Given the description of an element on the screen output the (x, y) to click on. 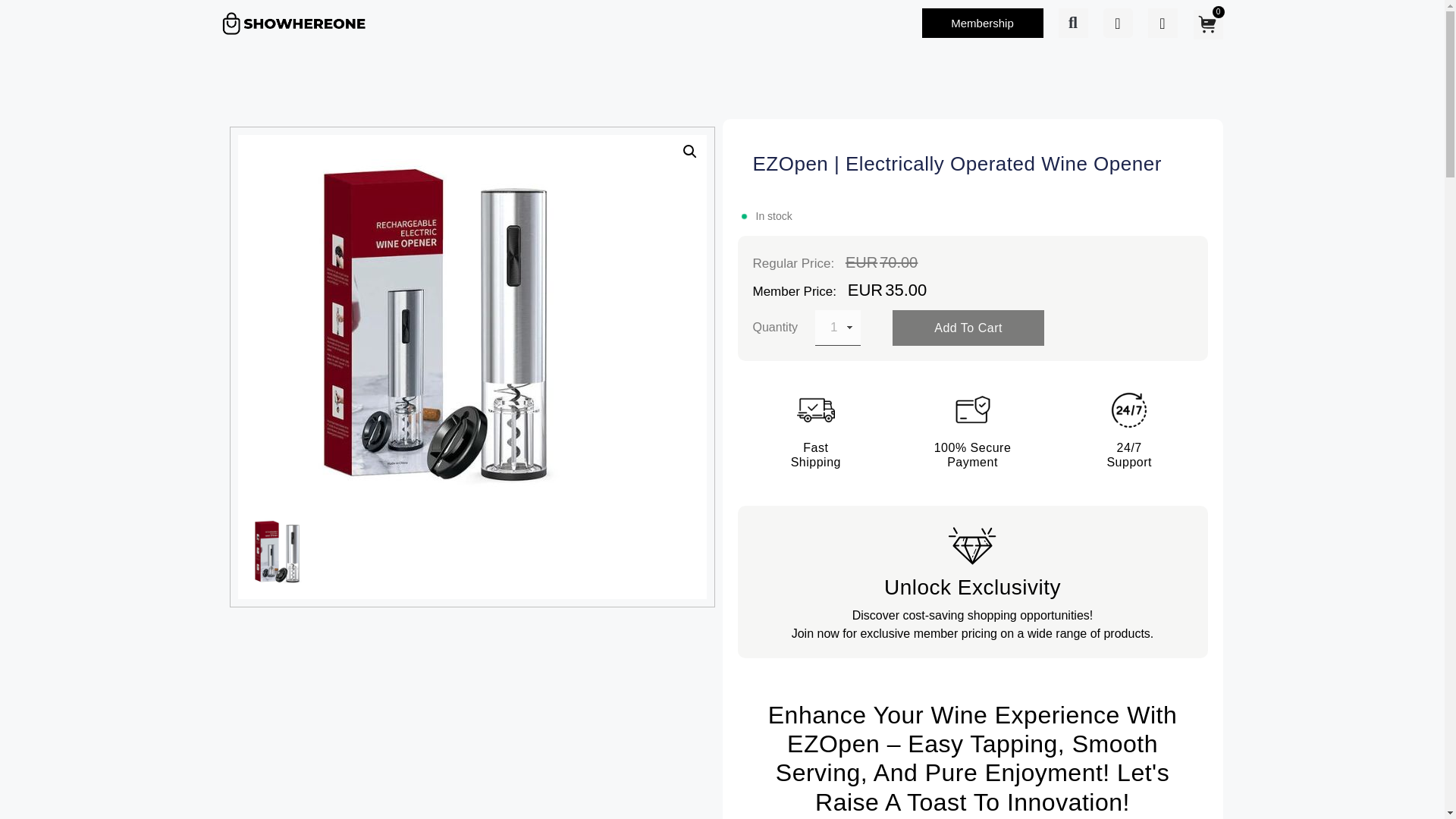
Unlock Exclusivity (972, 586)
0 (1207, 23)
Add To Cart (967, 327)
Membership (982, 22)
